Given the description of an element on the screen output the (x, y) to click on. 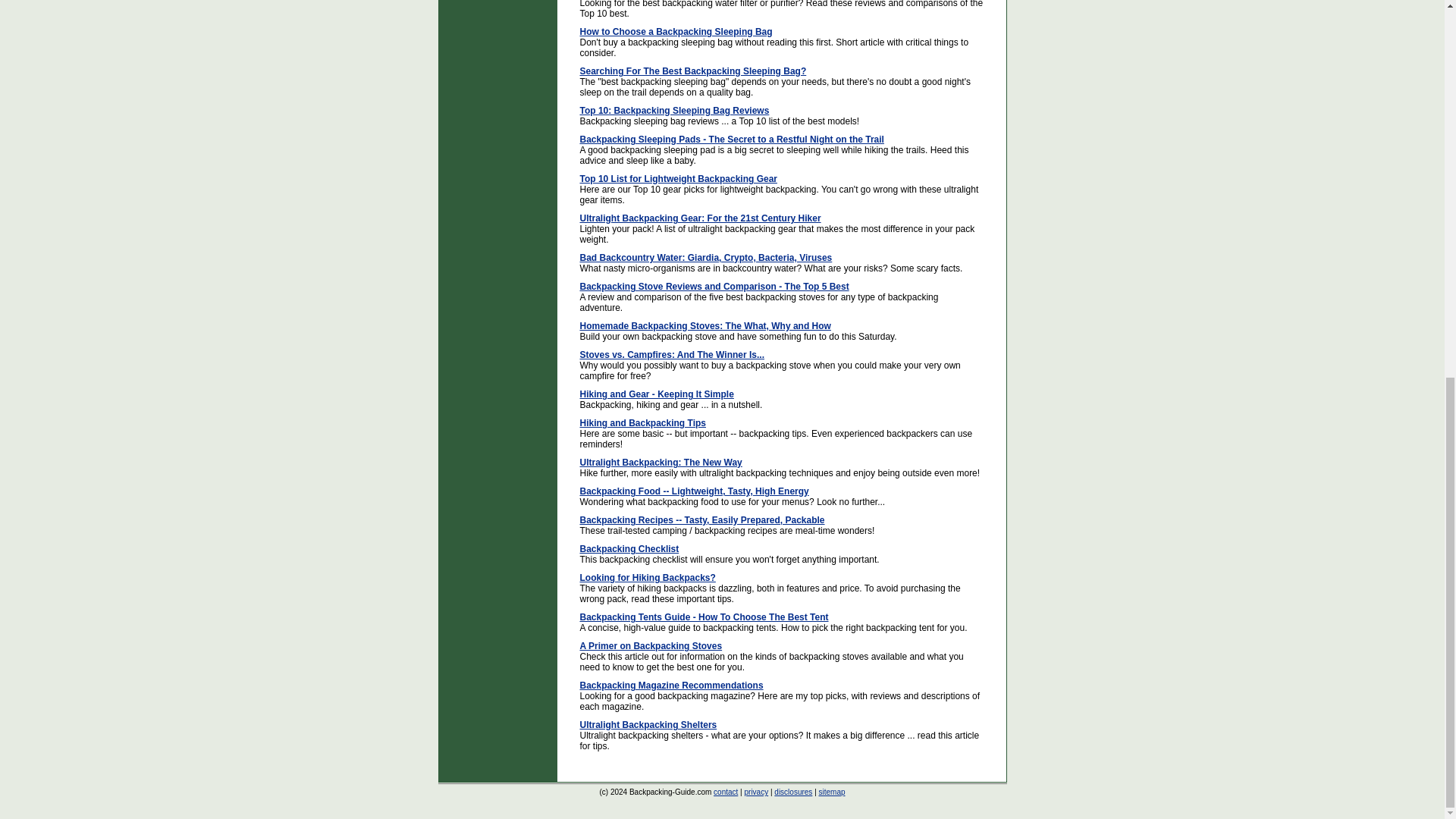
Hiking and Gear - Keeping It Simple (656, 394)
Backpacking Magazine Recommendations (670, 685)
Ultralight Backpacking: The New Way (660, 462)
How to Choose a Backpacking Sleeping Bag (675, 31)
Backpacking Recipes -- Tasty, Easily Prepared, Packable (701, 520)
contact (725, 791)
Backpacking Food -- Lightweight, Tasty, High Energy (693, 491)
Stoves vs. Campfires: And The Winner Is... (671, 354)
Ultralight Backpacking Shelters (647, 724)
Hiking and Backpacking Tips (642, 422)
